Given the description of an element on the screen output the (x, y) to click on. 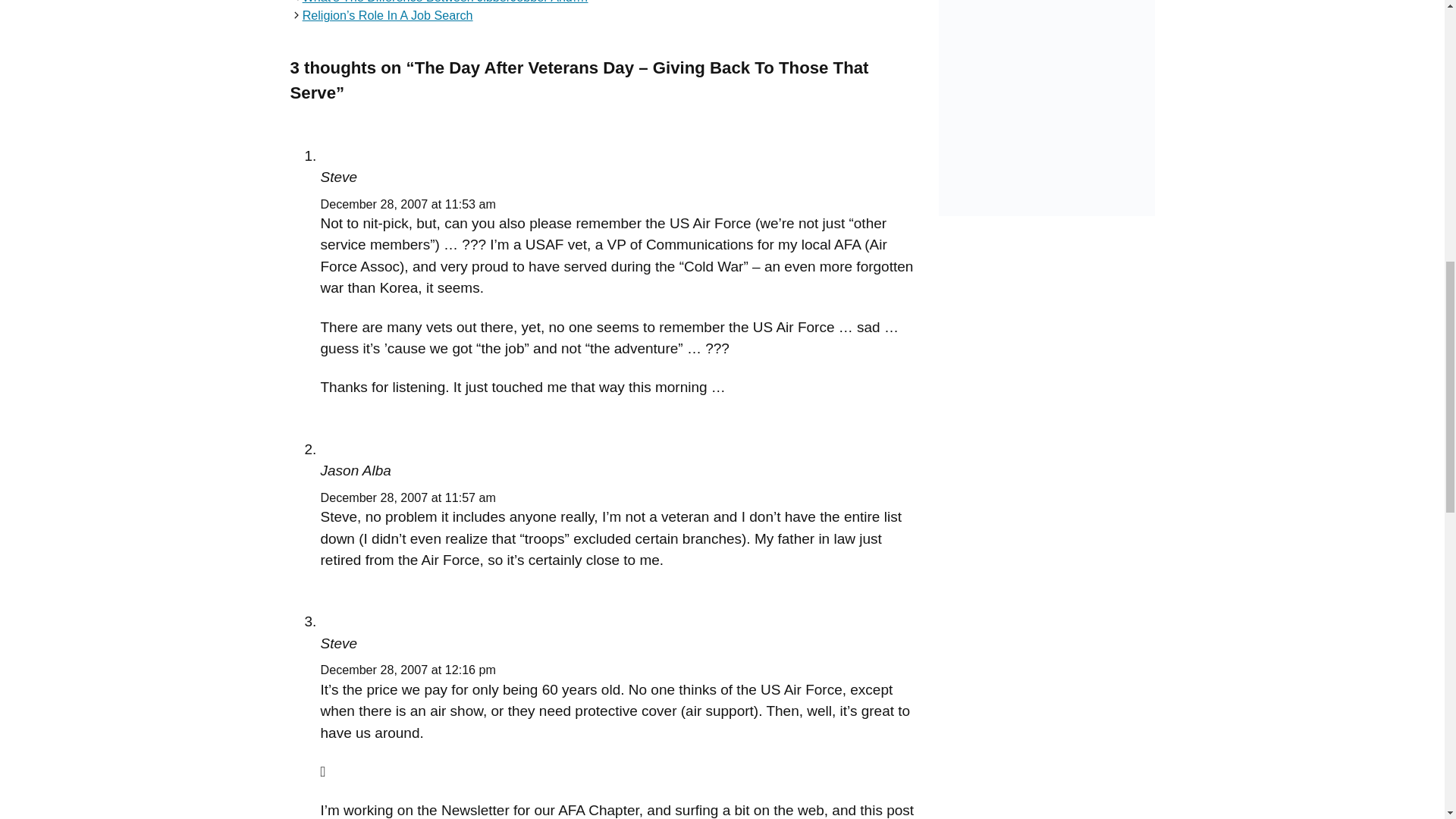
December 28, 2007 at 11:53 am (408, 203)
Steve (338, 176)
Steve (338, 643)
Jason Alba (355, 470)
Next (387, 15)
December 28, 2007 at 11:57 am (408, 497)
December 28, 2007 at 12:16 pm (408, 669)
Previous (445, 2)
